Given the description of an element on the screen output the (x, y) to click on. 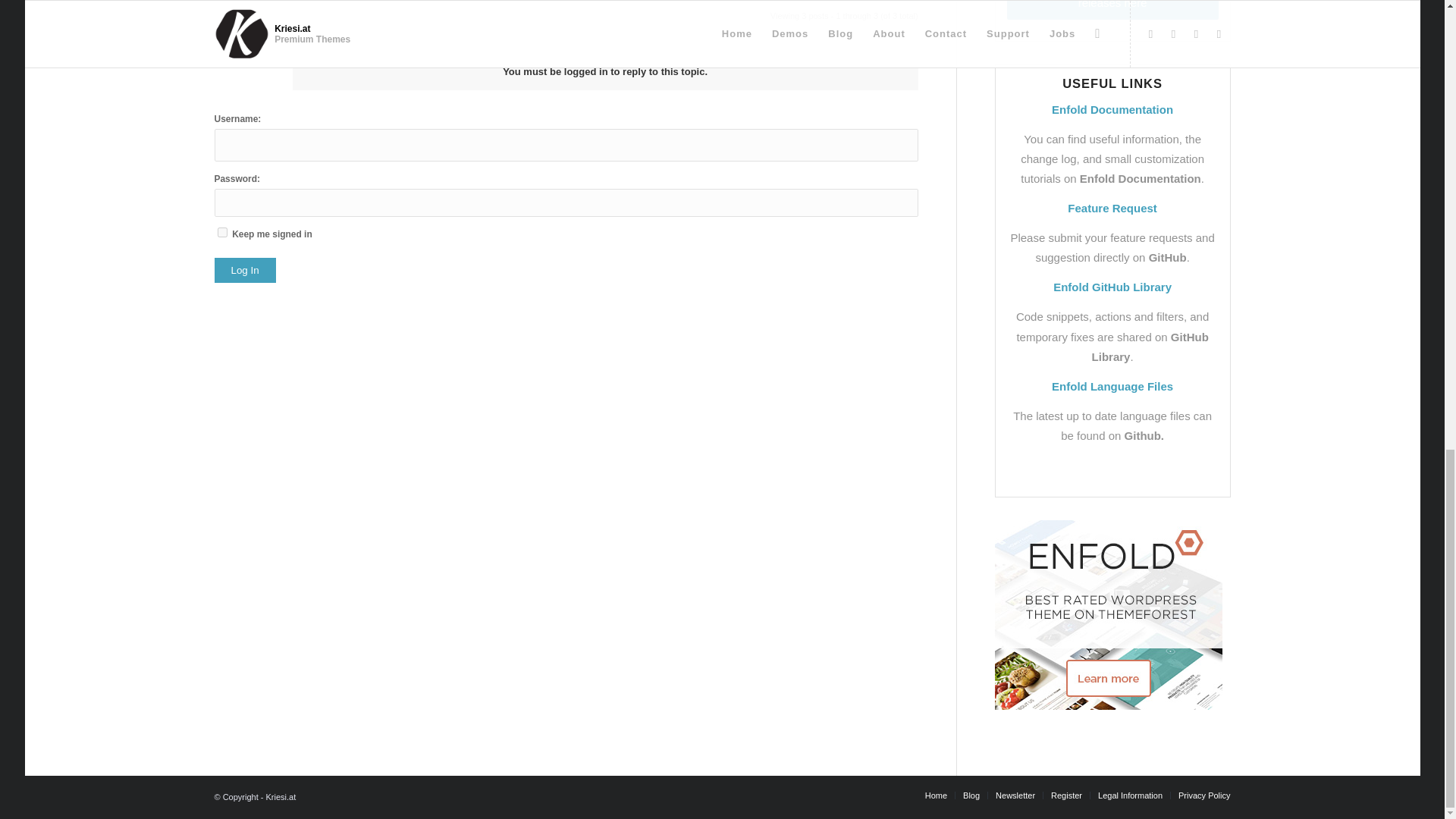
forever (221, 232)
Log In (244, 269)
Check the changelog of previous releases here (1112, 9)
